Given the description of an element on the screen output the (x, y) to click on. 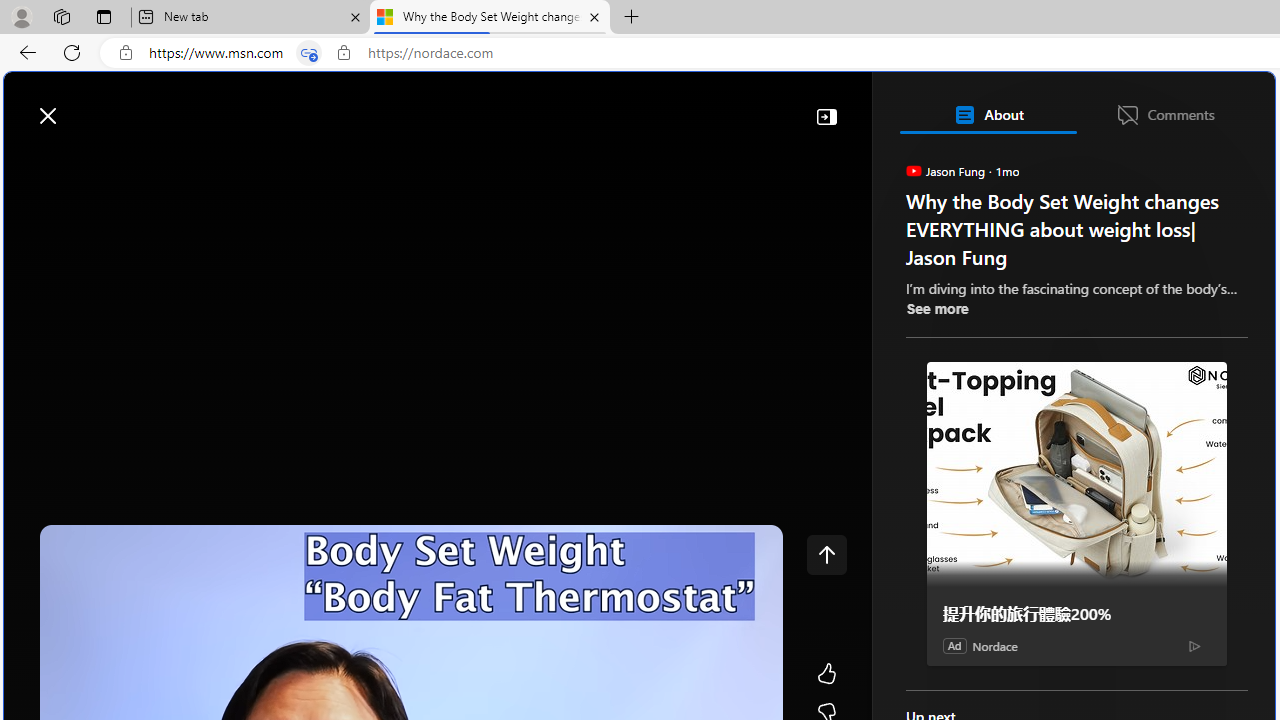
New Tab (632, 17)
Following (172, 162)
ABC News (974, 557)
Personal Profile (21, 16)
Following (173, 162)
About (987, 114)
See more (936, 308)
The Best Gift That a Traveler Can Receive (1084, 399)
Collapse (826, 115)
The Best Gift That a Traveler Can Receive (1084, 288)
Skip to content (86, 105)
